Given the description of an element on the screen output the (x, y) to click on. 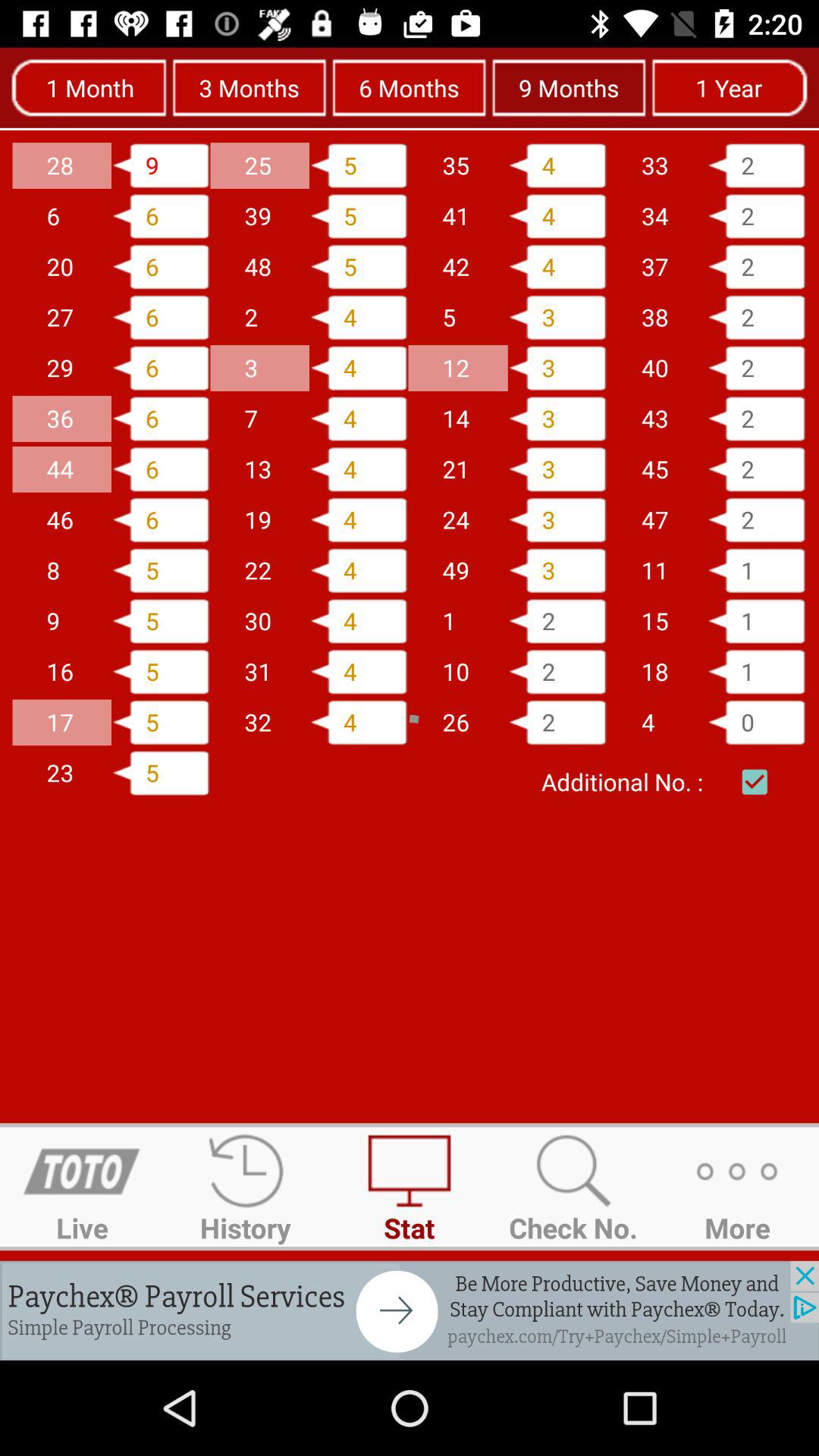
advertisement (409, 1310)
